Given the description of an element on the screen output the (x, y) to click on. 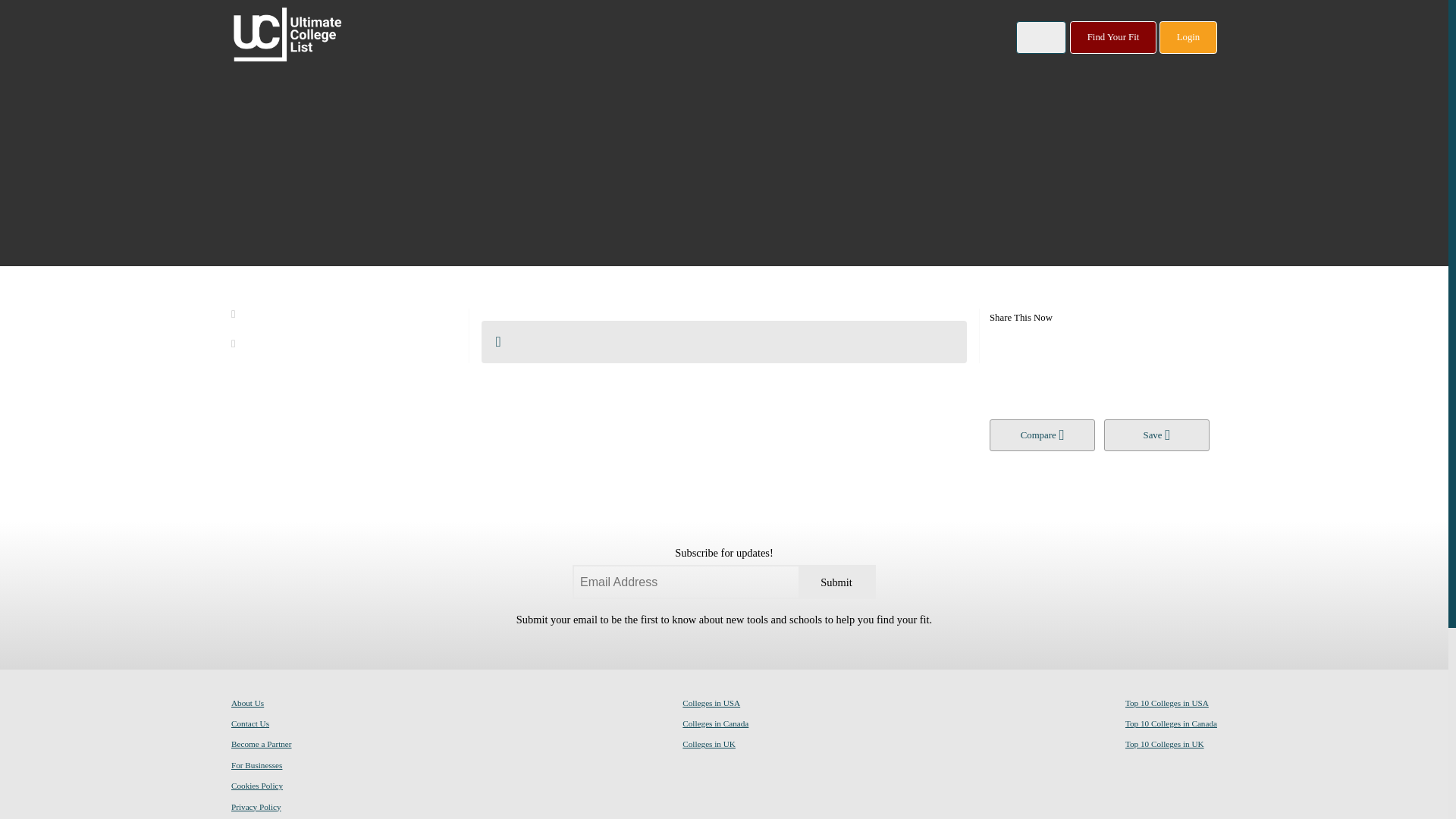
Colleges in USA (710, 702)
Become a Partner (261, 743)
Login (1187, 37)
Contact Us (250, 723)
Top 10 Colleges in USA (1166, 702)
Colleges in UK (708, 743)
Cookies Policy (256, 785)
Colleges in Canada (715, 723)
Privacy Policy (256, 806)
For Businesses (256, 764)
